Given the description of an element on the screen output the (x, y) to click on. 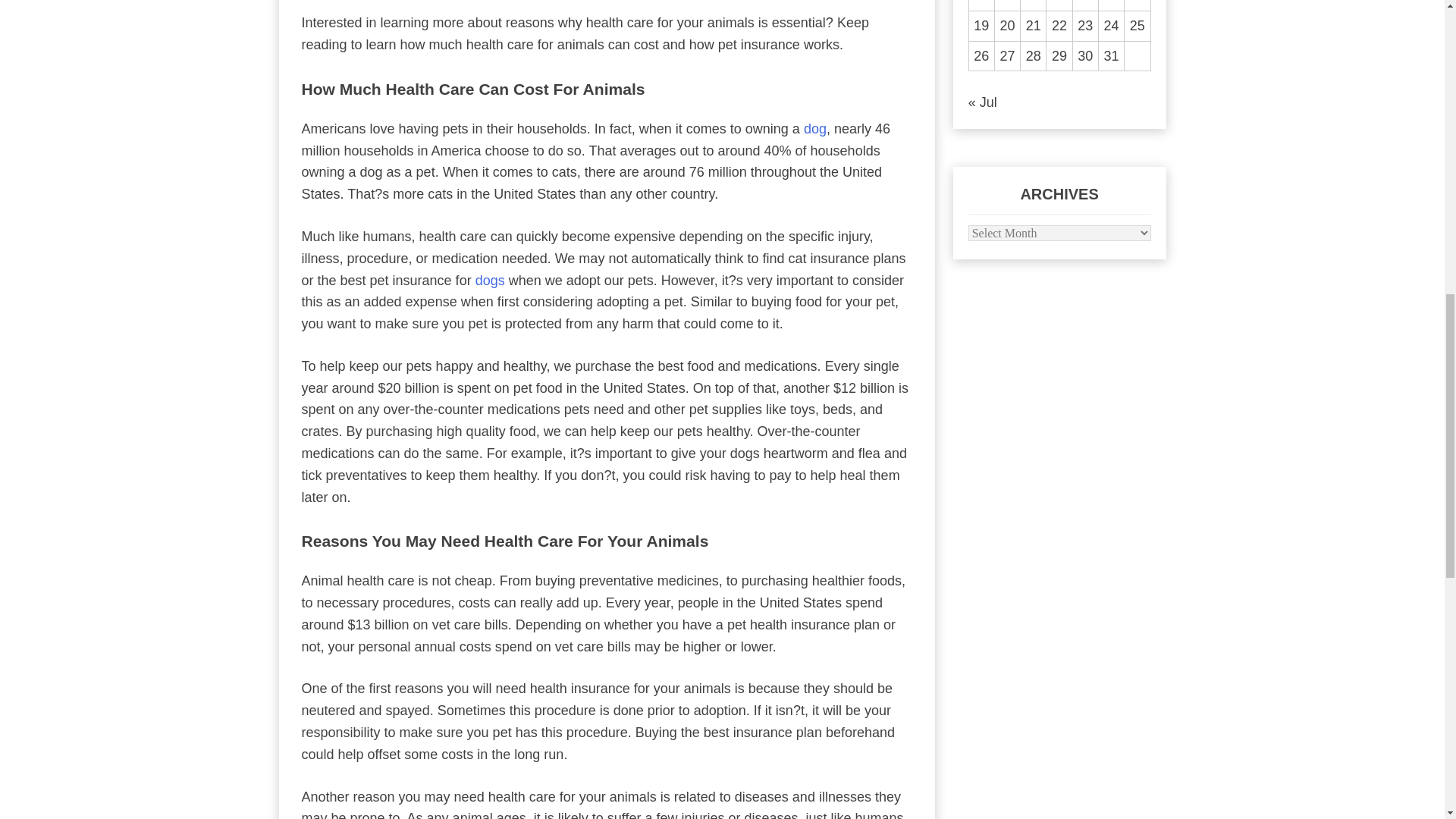
dog (815, 128)
Cat insurance cost, Doggy insurance (815, 128)
dogs (490, 280)
Doggy insurance, Senior dog care (490, 280)
